Given the description of an element on the screen output the (x, y) to click on. 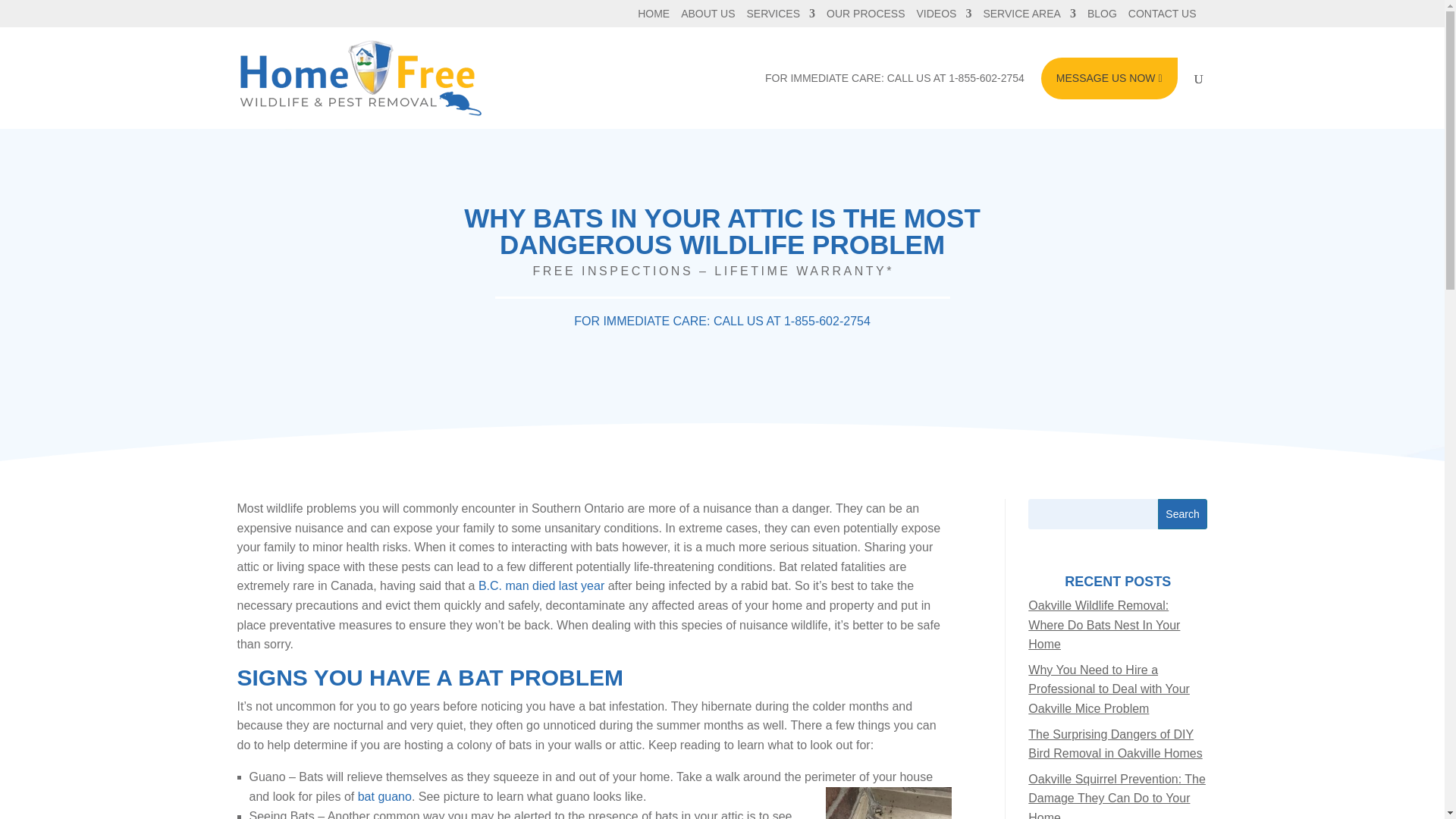
CONTACT US (1162, 17)
FOR IMMEDIATE CARE: CALL US AT 1-855-602-2754 (721, 320)
Search (1182, 513)
B.C. man died last year (541, 585)
bat guano (385, 796)
SERVICE AREA (1028, 17)
ABOUT US (708, 17)
BLOG (1101, 17)
FOR IMMEDIATE CARE: CALL US AT 1-855-602-2754 (895, 100)
MESSAGE US NOW (1109, 78)
